Given the description of an element on the screen output the (x, y) to click on. 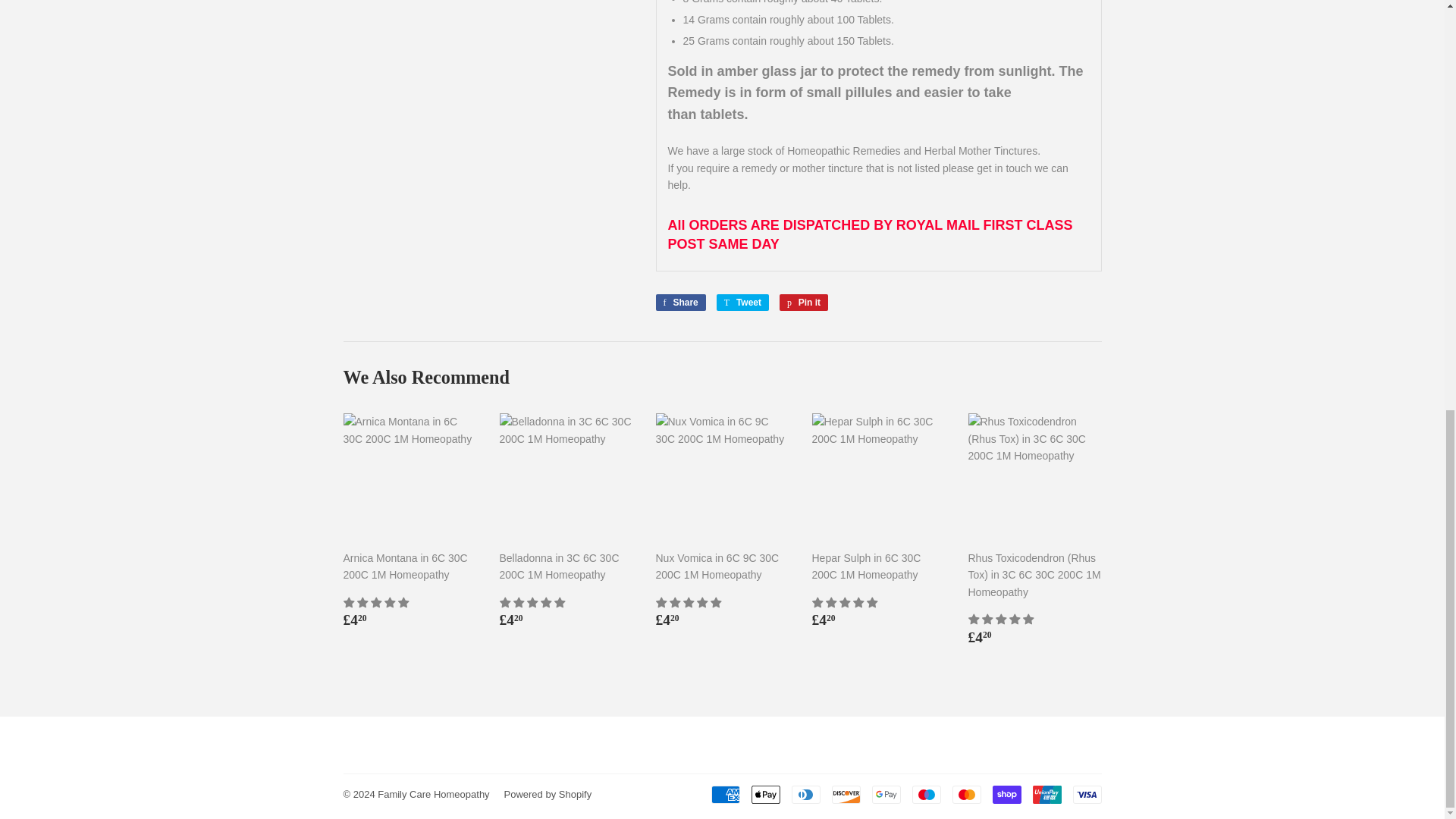
Maestro (925, 794)
Apple Pay (764, 794)
Shop Pay (1005, 794)
American Express (803, 302)
Union Pay (725, 794)
Pin on Pinterest (1046, 794)
Google Pay (679, 302)
